Given the description of an element on the screen output the (x, y) to click on. 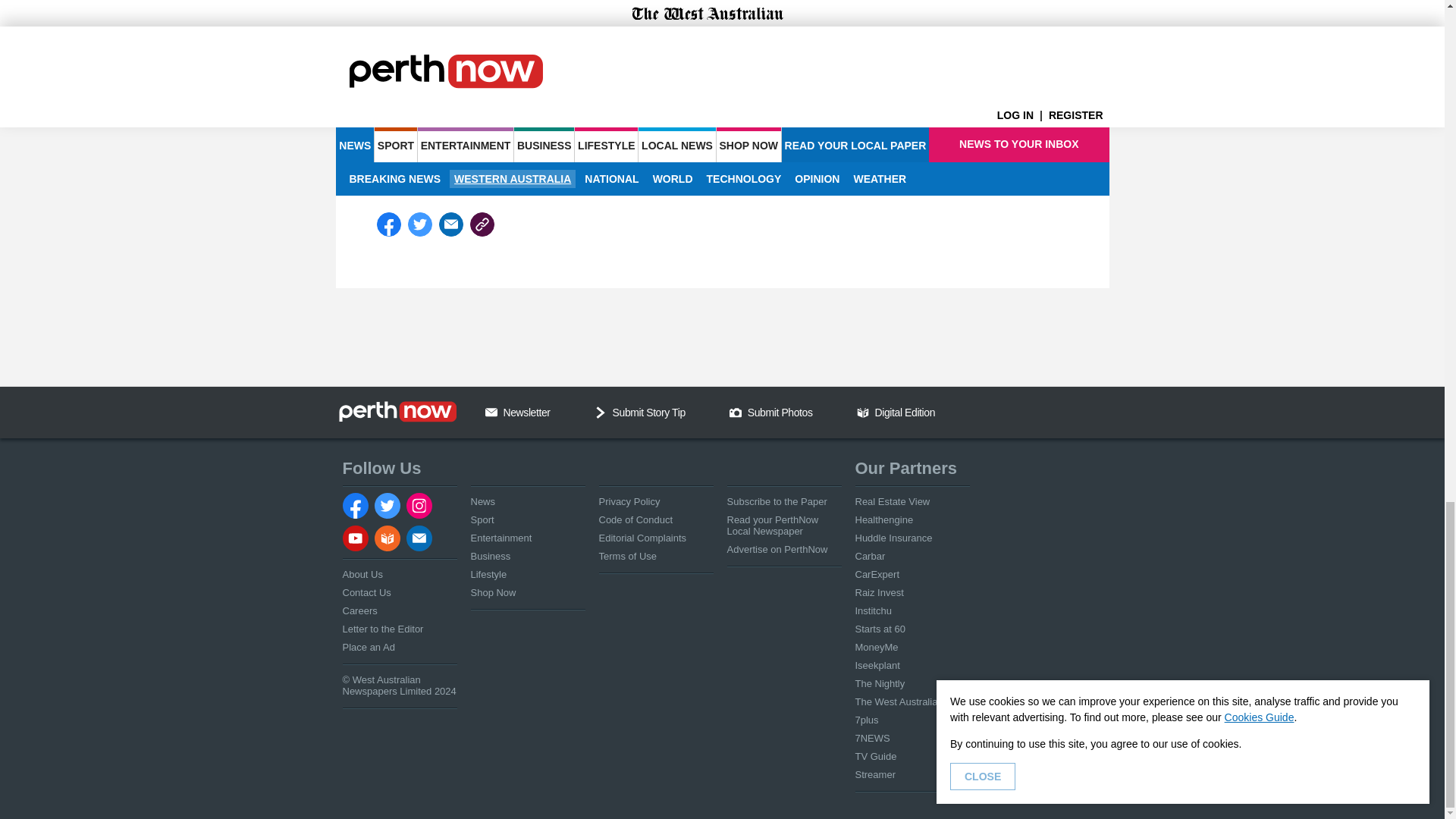
Chevron Down Icon (600, 412)
Email Us (490, 412)
Get Digital Edition (863, 412)
Camera Icon (735, 412)
